Given the description of an element on the screen output the (x, y) to click on. 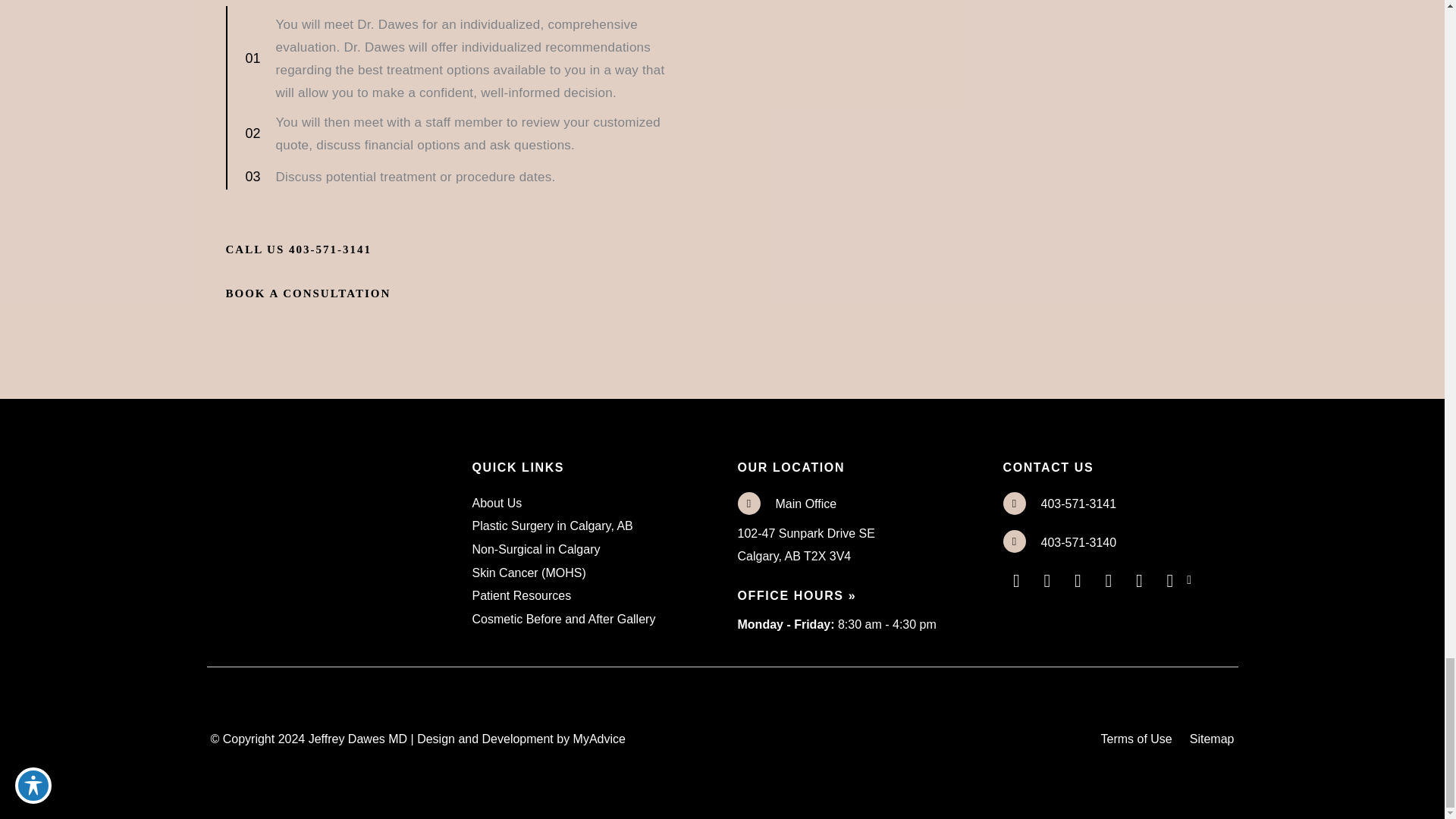
jeffreydaweslogo final white (308, 464)
Click Here (298, 249)
Click Here (308, 293)
